Given the description of an element on the screen output the (x, y) to click on. 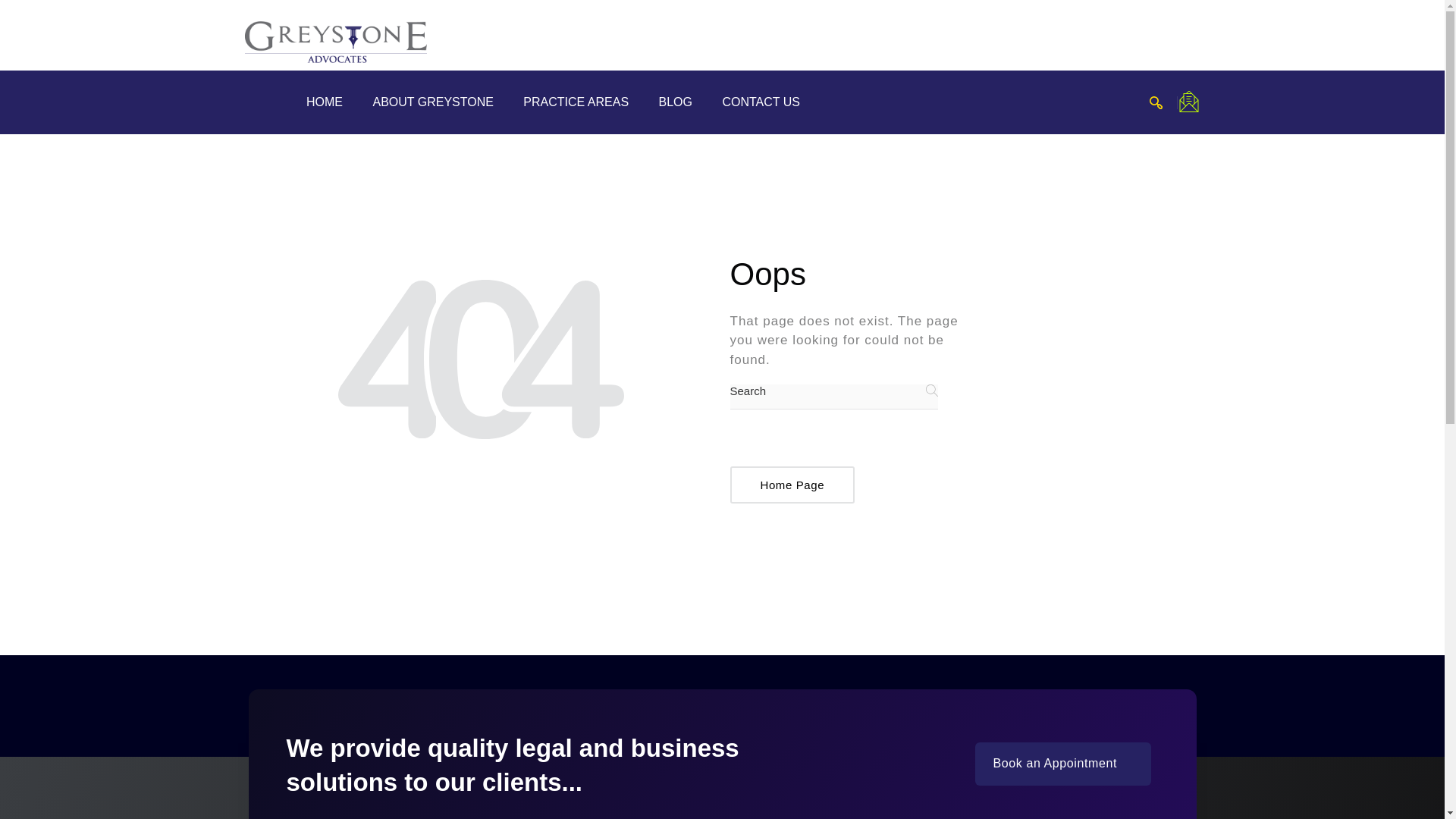
HOME (323, 101)
PRACTICE AREAS (576, 101)
ABOUT GREYSTONE (432, 101)
